Given the description of an element on the screen output the (x, y) to click on. 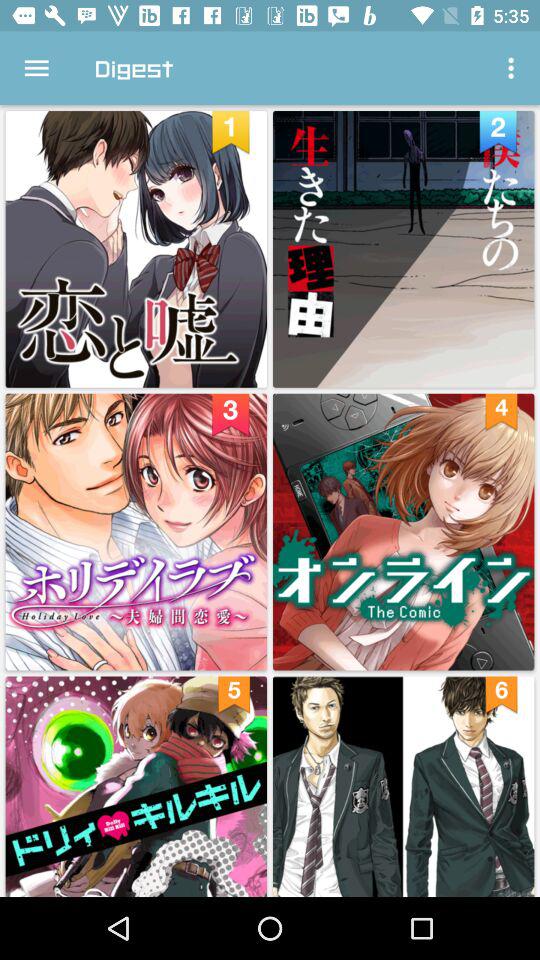
press the item next to the digest item (513, 67)
